Given the description of an element on the screen output the (x, y) to click on. 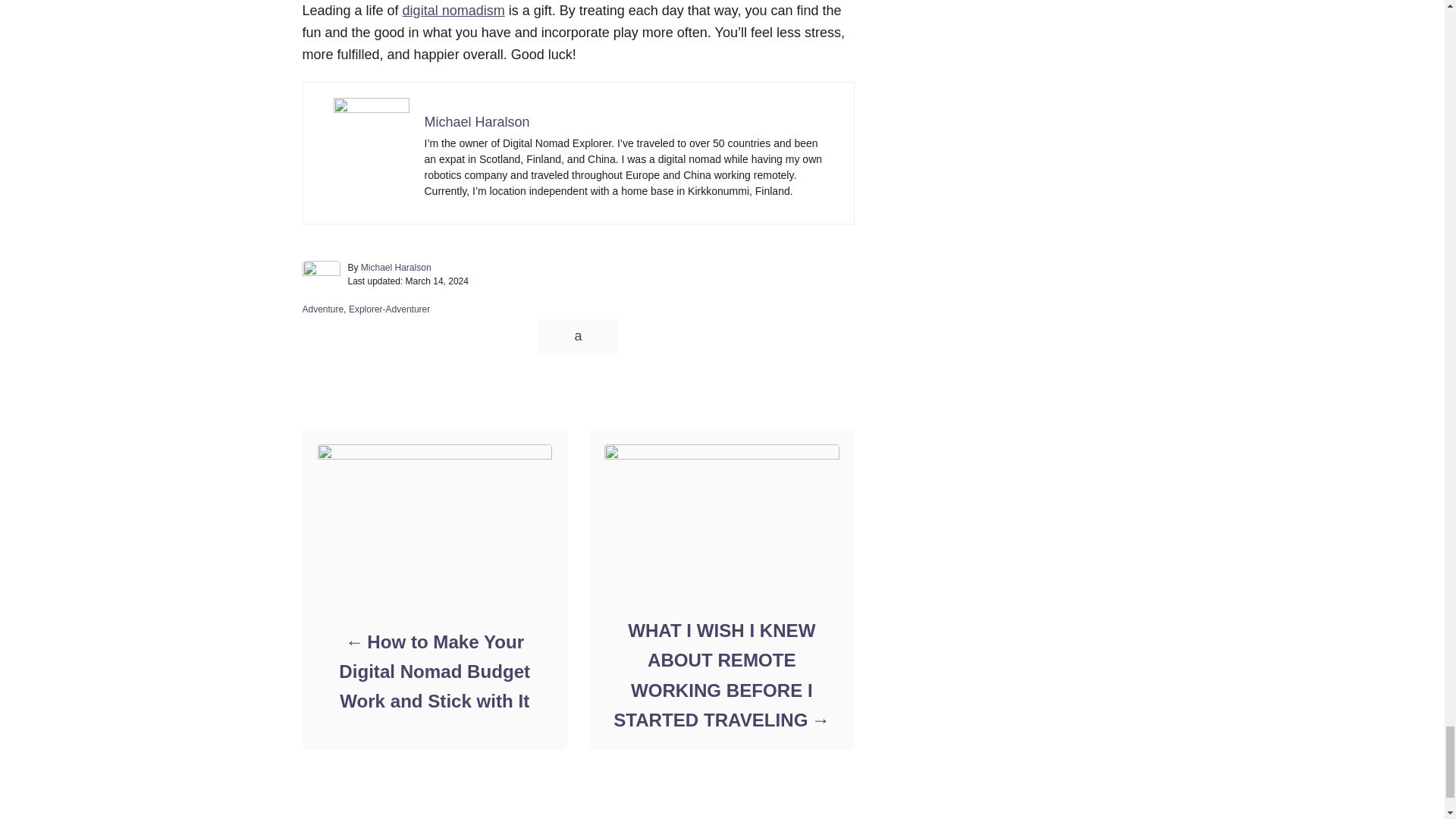
a (577, 335)
Adventure (322, 308)
digital nomadism (454, 10)
Explorer-Adventurer (389, 308)
Michael Haralson (477, 121)
Michael Haralson (395, 267)
How to Make Your Digital Nomad Budget Work and Stick with It (434, 671)
